Given the description of an element on the screen output the (x, y) to click on. 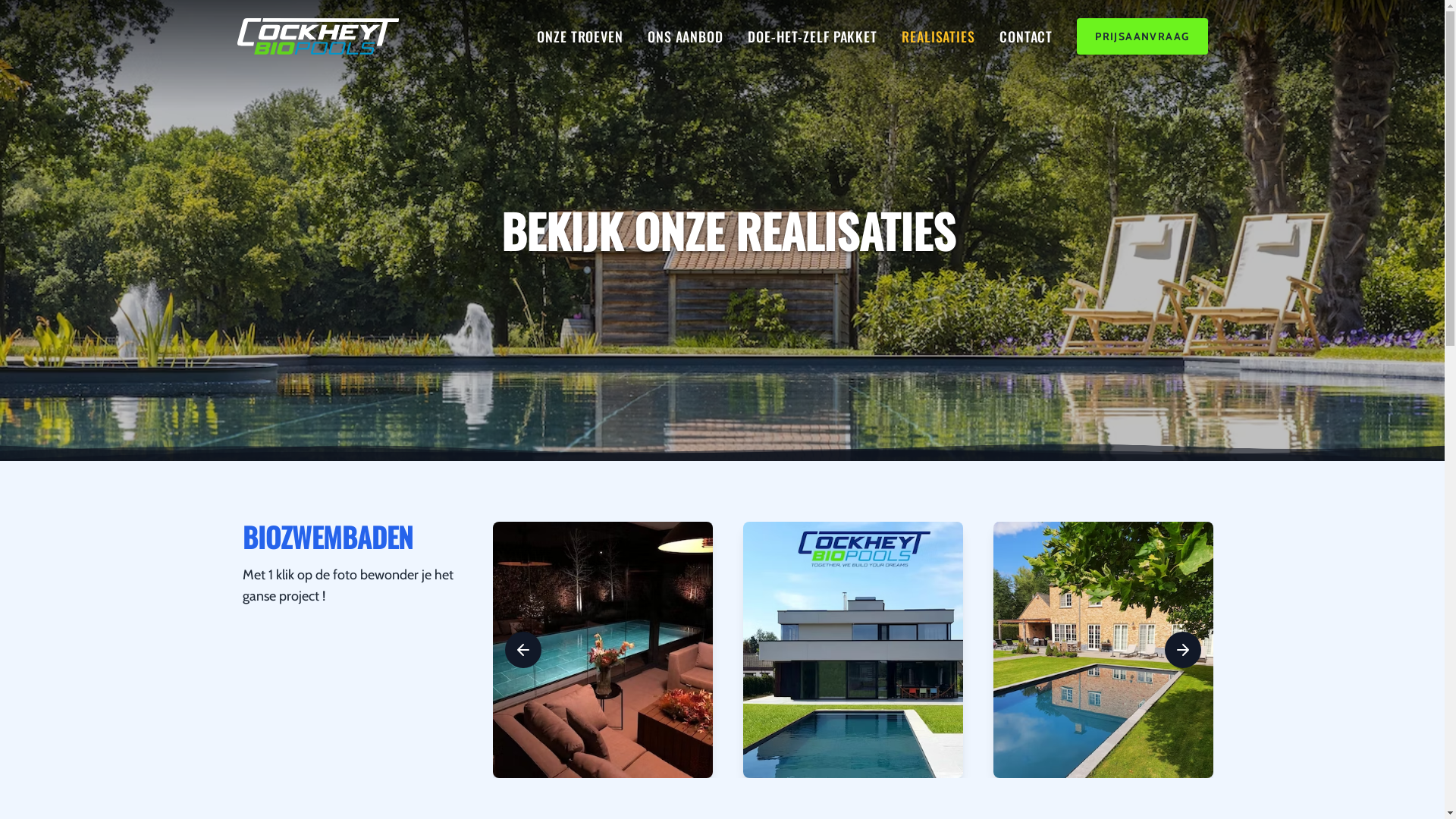
ONS AANBOD Element type: text (685, 35)
CONTACT Element type: text (1025, 35)
BIOZWEMBADEN Element type: text (327, 536)
Volgende afbeelding Element type: text (1182, 649)
PRIJSAANVRAAG Element type: text (1141, 36)
DOE-HET-ZELF PAKKET Element type: text (812, 35)
Vorige afbeelding Element type: text (523, 649)
Biozwembad te Molenstede Element type: text (1103, 649)
Ontdek dit mooie project te Kasterlee Element type: text (602, 649)
Biozwembad te Londerzeel Element type: text (853, 649)
REALISATIES Element type: text (938, 35)
ONZE TROEVEN Element type: text (579, 35)
